Given the description of an element on the screen output the (x, y) to click on. 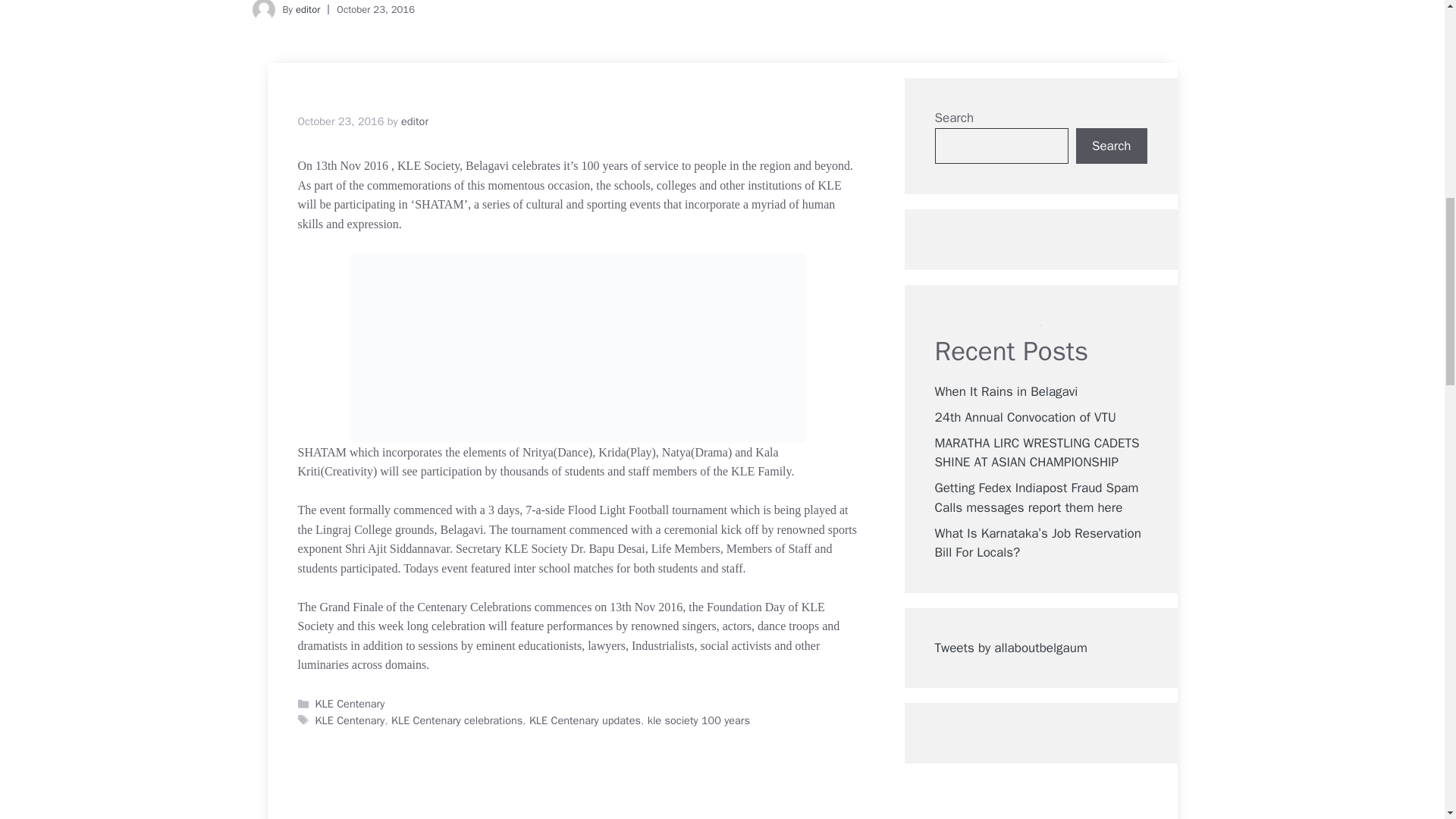
KLE Centenary (350, 703)
MARATHA LIRC WRESTLING CADETS SHINE AT ASIAN CHAMPIONSHIP (1036, 452)
24th Annual Convocation of VTU (1024, 417)
Search (1111, 145)
When It Rains in Belagavi (1005, 391)
kle society 100 years (698, 720)
KLE Centenary celebrations (456, 720)
editor (307, 9)
KLE Centenary celebrations kick off 1 (577, 348)
KLE Centenary updates (584, 720)
editor (414, 120)
View all posts by editor (414, 120)
KLE Centenary (350, 720)
